Given the description of an element on the screen output the (x, y) to click on. 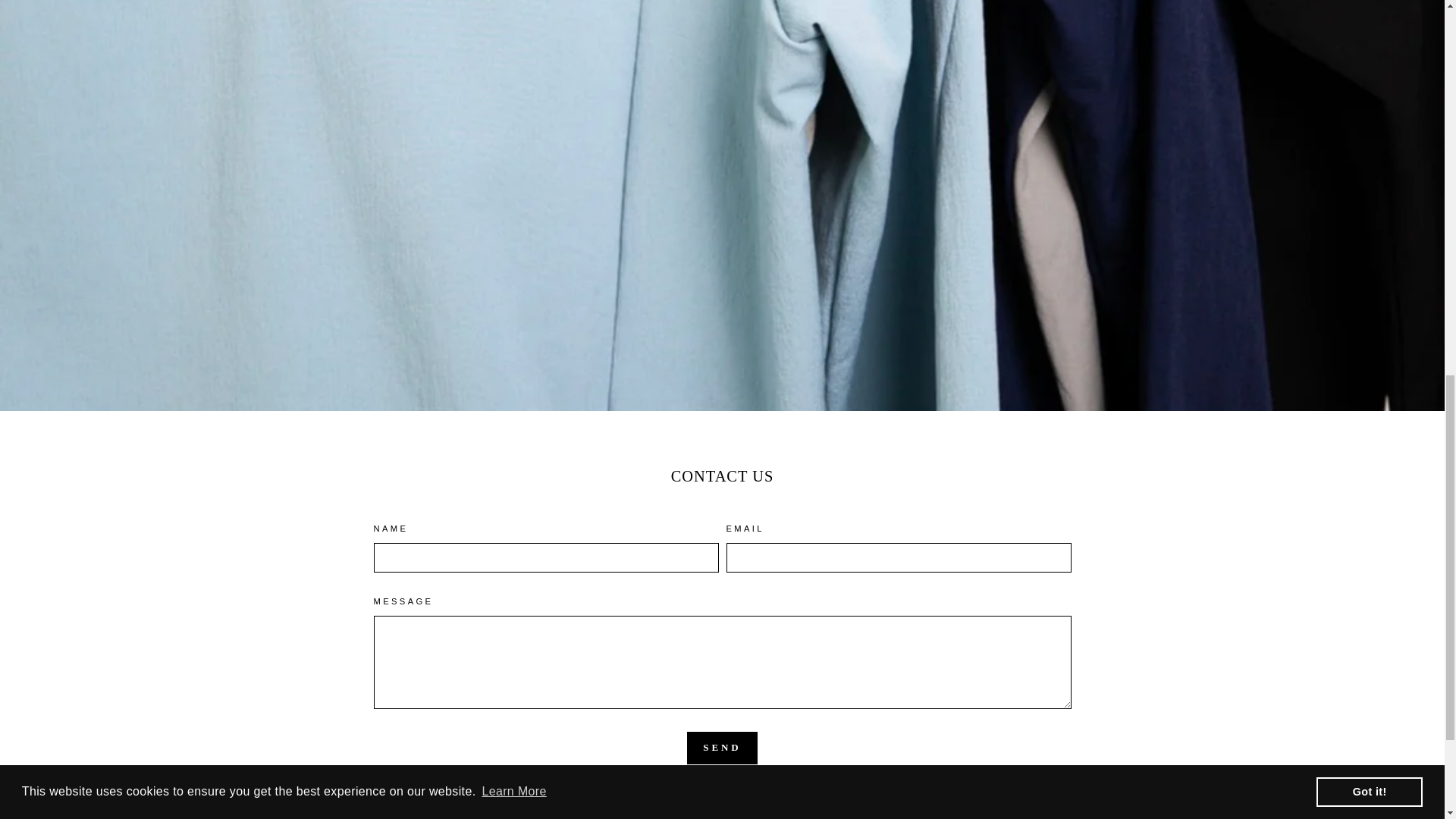
Terms of Service (860, 792)
SEND (722, 747)
Privacy Policy (775, 792)
